Given the description of an element on the screen output the (x, y) to click on. 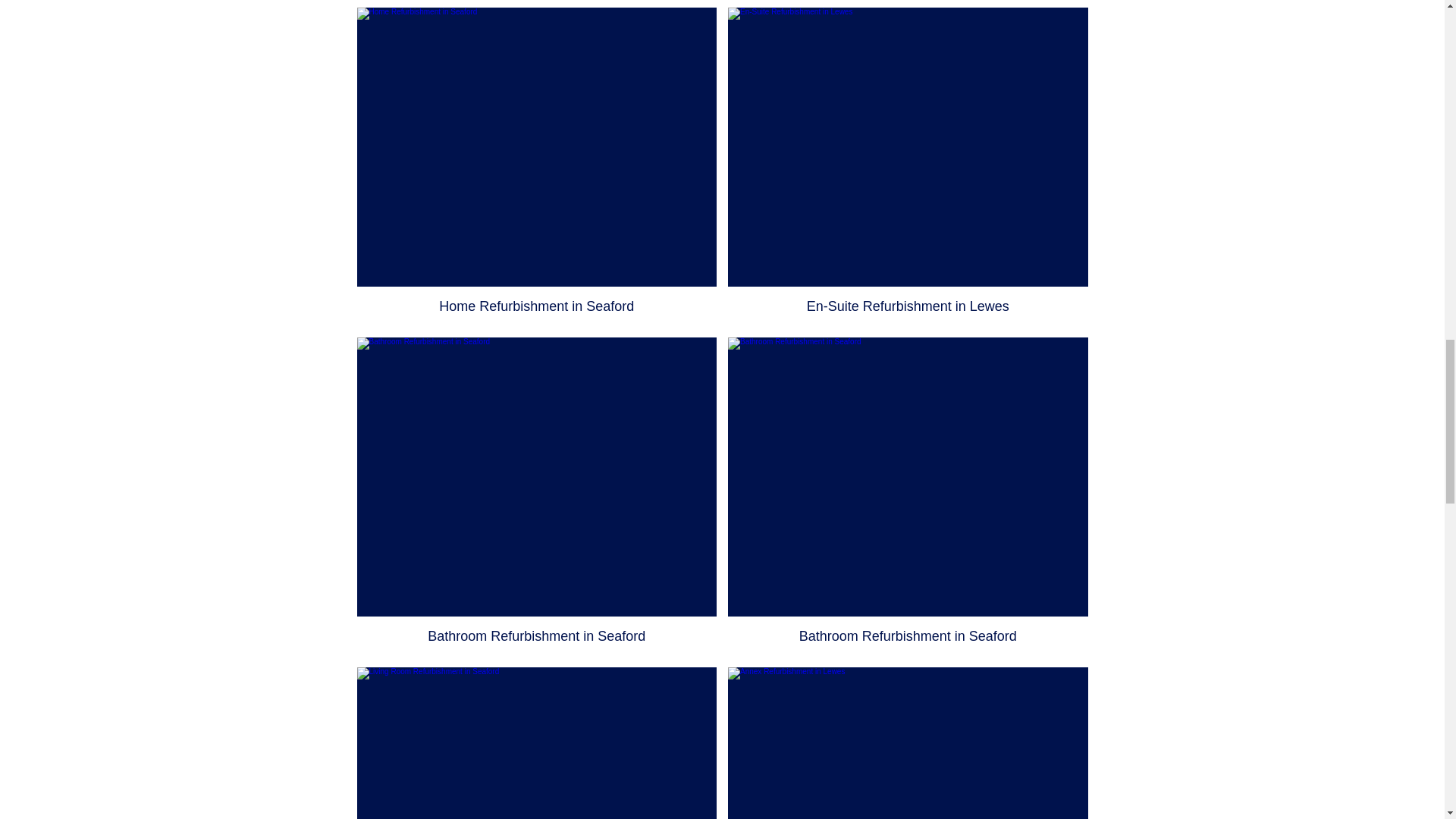
Bathroom Refurbishment in Seaford (907, 496)
En-Suite Refurbishment in Lewes (907, 166)
Bathroom Refurbishment in Seaford (536, 496)
Living Room Refurbishment in Seaford (536, 743)
Annex Refurbishment in Lewes (907, 743)
Home Refurbishment in Seaford (536, 166)
